Given the description of an element on the screen output the (x, y) to click on. 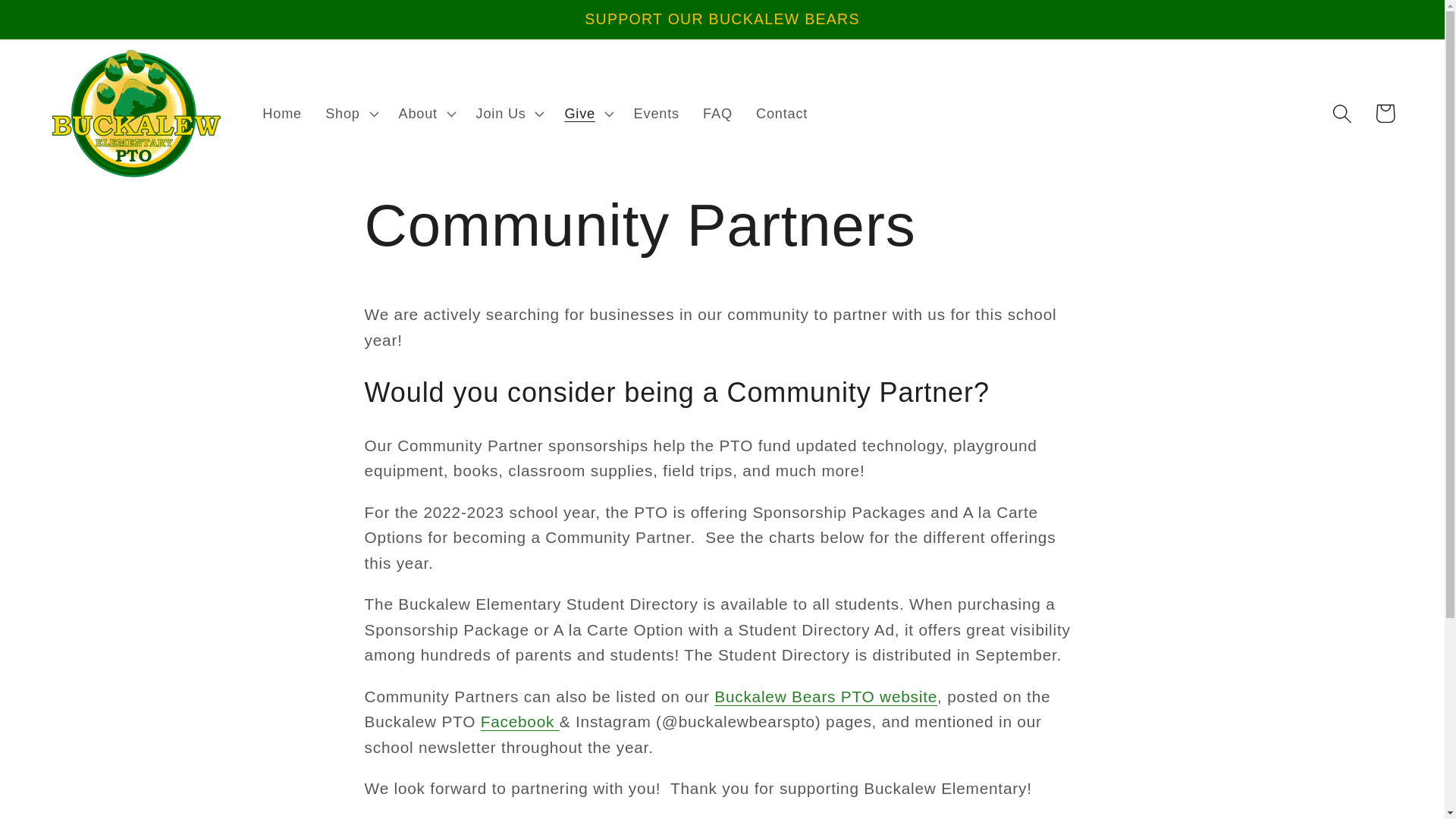
Skip to content (59, 22)
Home (282, 113)
